Given the description of an element on the screen output the (x, y) to click on. 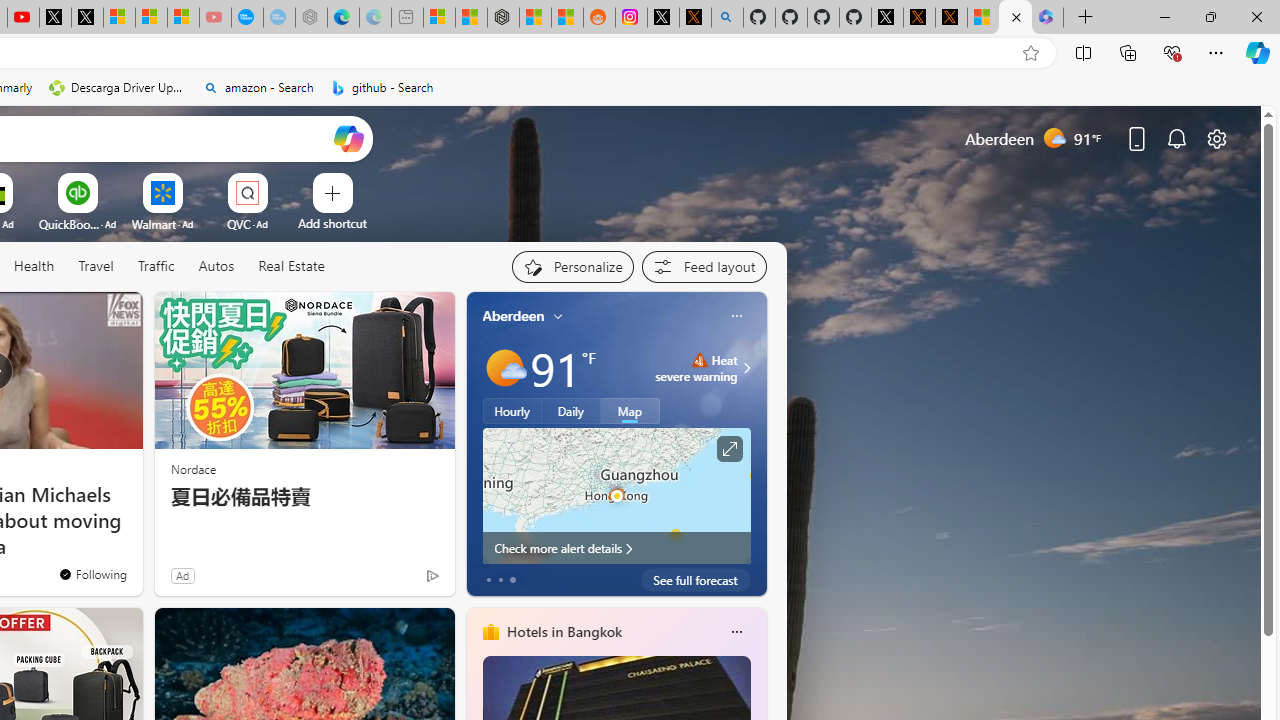
Heat - Severe Heat severe warning (696, 367)
Descarga Driver Updater (118, 88)
Autos (216, 267)
github - Search (727, 17)
More Options (279, 179)
amazon - Search (258, 88)
tab-1 (500, 579)
Log in to X / X (663, 17)
X Privacy Policy (950, 17)
Opinion: Op-Ed and Commentary - USA TODAY (246, 17)
